Given the description of an element on the screen output the (x, y) to click on. 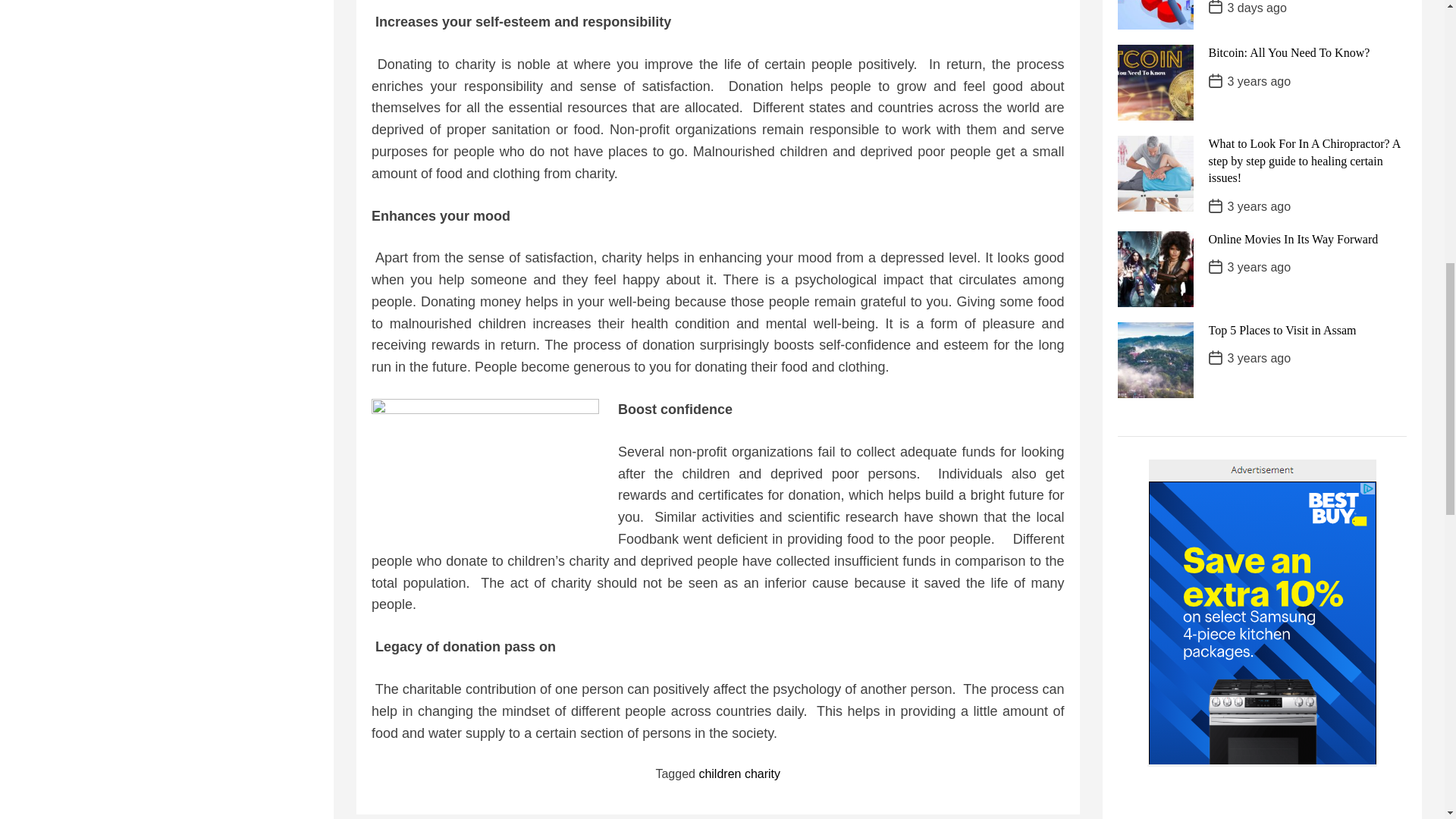
children charity (739, 773)
